Given the description of an element on the screen output the (x, y) to click on. 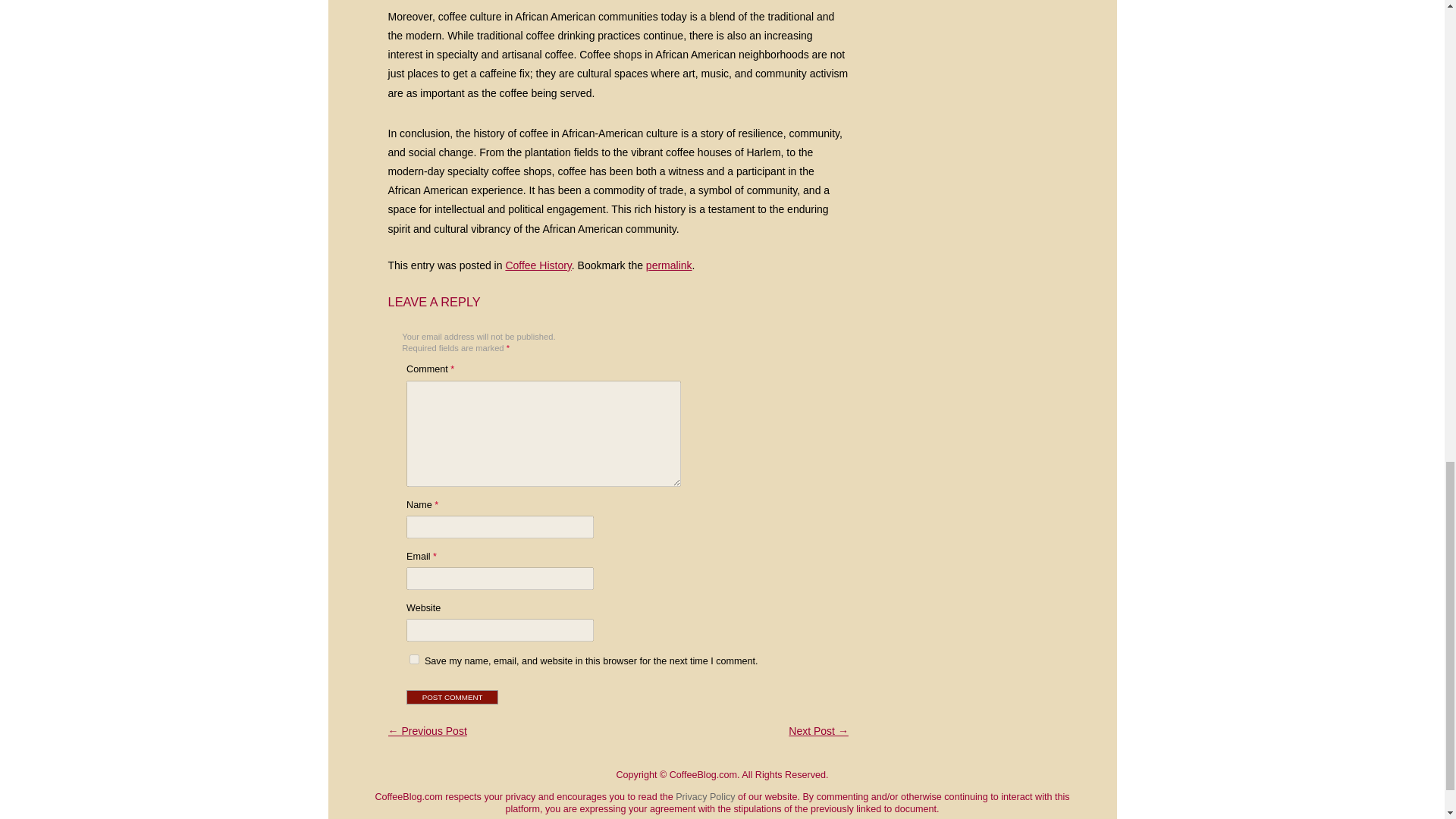
Coffee History (537, 265)
Post Comment (451, 697)
permalink (669, 265)
Post Comment (451, 697)
yes (414, 659)
Privacy Policy (705, 796)
